Given the description of an element on the screen output the (x, y) to click on. 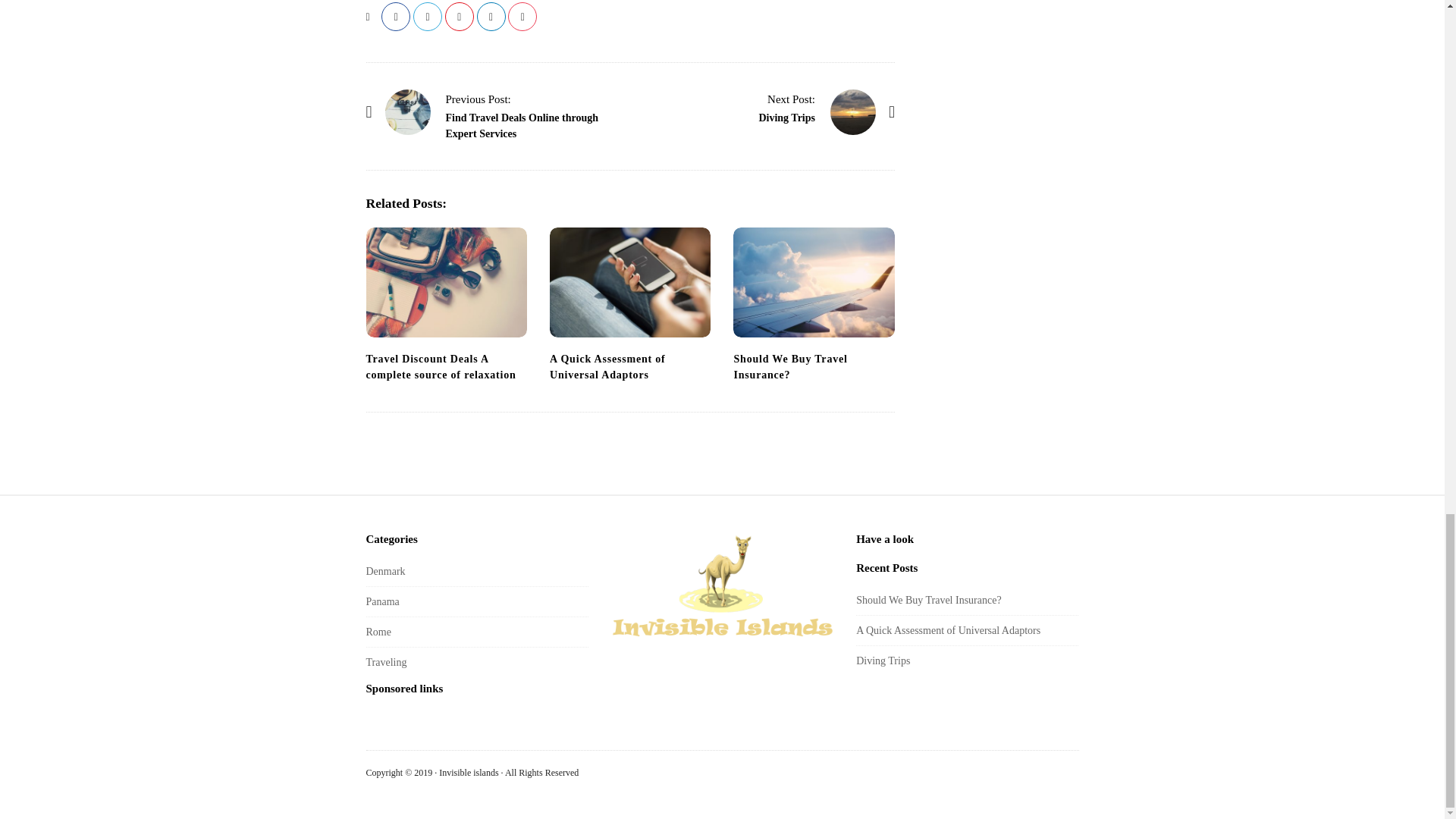
Next Post: (791, 99)
A Quick Assessment of Universal Adaptors (607, 366)
Diving Trips (791, 99)
Find Travel Deals Online through Expert Services (478, 99)
Previous Post: (478, 99)
A Quick Assessment of Universal Adaptors (607, 366)
Travel Discount Deals A complete source of relaxation (445, 282)
Travel Discount Deals A complete source of relaxation (440, 366)
Should We Buy Travel Insurance?  (790, 366)
Diving Trips (786, 117)
Find Travel Deals Online through Expert Services (521, 125)
Diving Trips (852, 112)
A Quick Assessment of Universal Adaptors (630, 282)
